Given the description of an element on the screen output the (x, y) to click on. 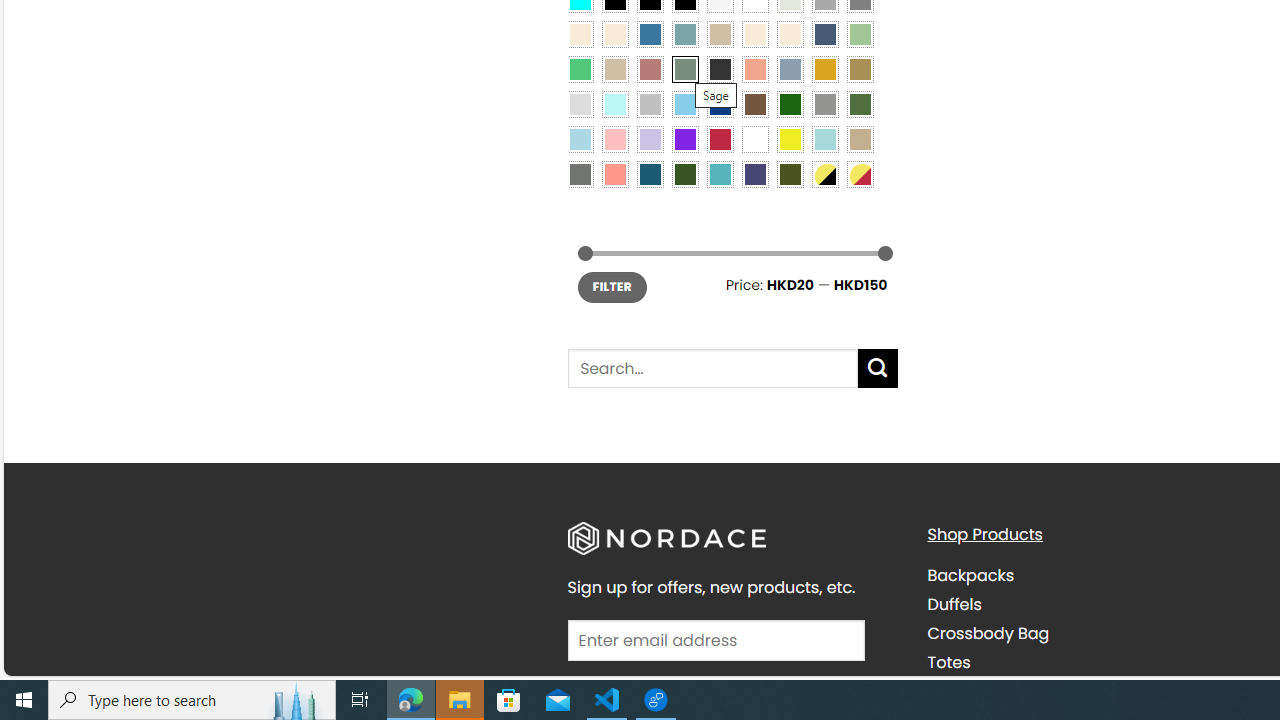
Totes (1092, 662)
Yellow (789, 138)
Backpacks (970, 575)
Green (859, 103)
Gray (824, 103)
Sage (684, 69)
Capri Blue (650, 174)
Navy Blue (719, 103)
Light Gray (579, 103)
Light Blue (579, 138)
Light Purple (650, 138)
Emerald Green (579, 69)
Teal (719, 174)
Light Green (859, 33)
Submit (877, 367)
